Given the description of an element on the screen output the (x, y) to click on. 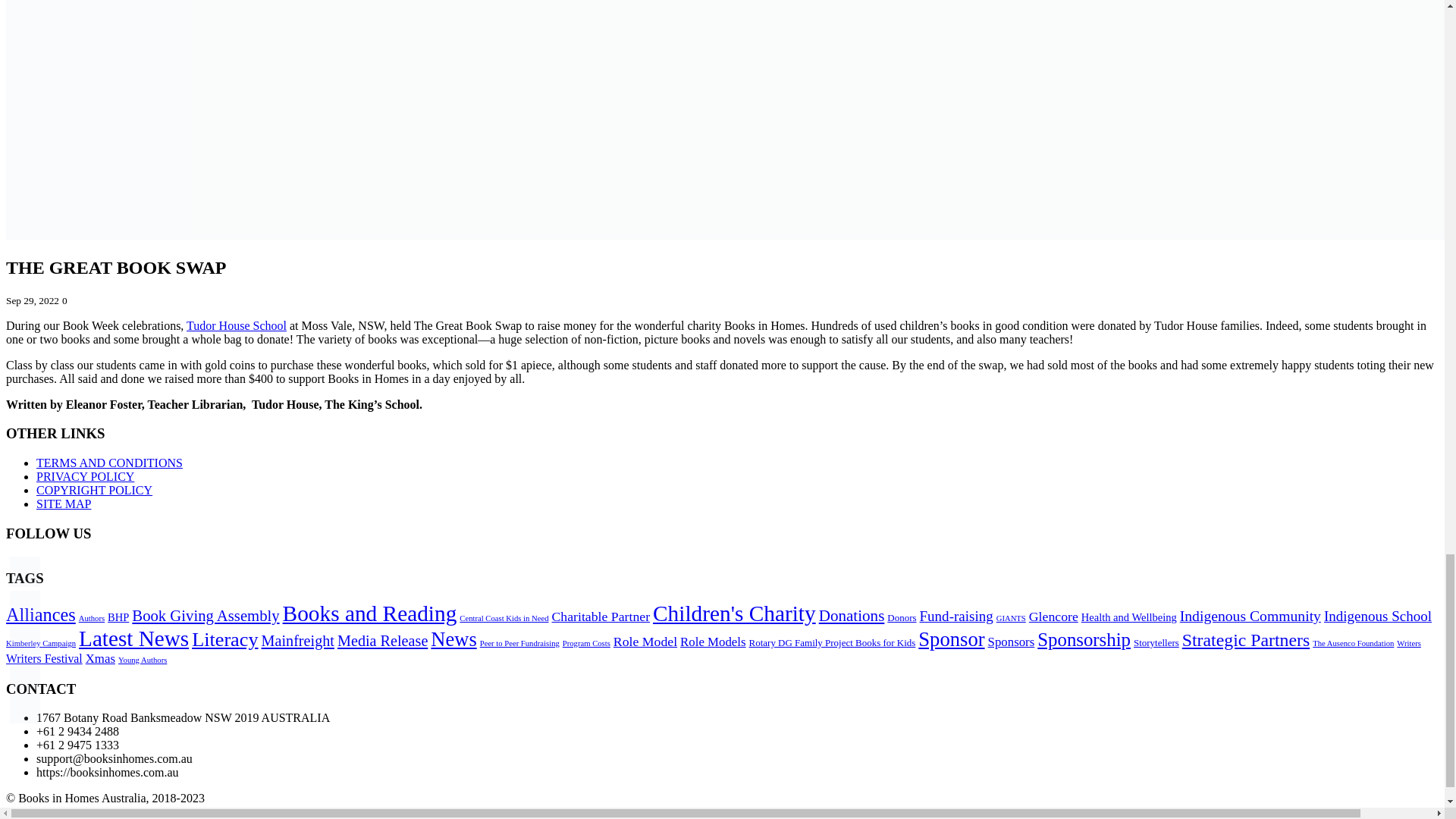
LinkedIn (25, 639)
Facebook (25, 571)
Twitter (25, 605)
YouTube (25, 674)
